Given the description of an element on the screen output the (x, y) to click on. 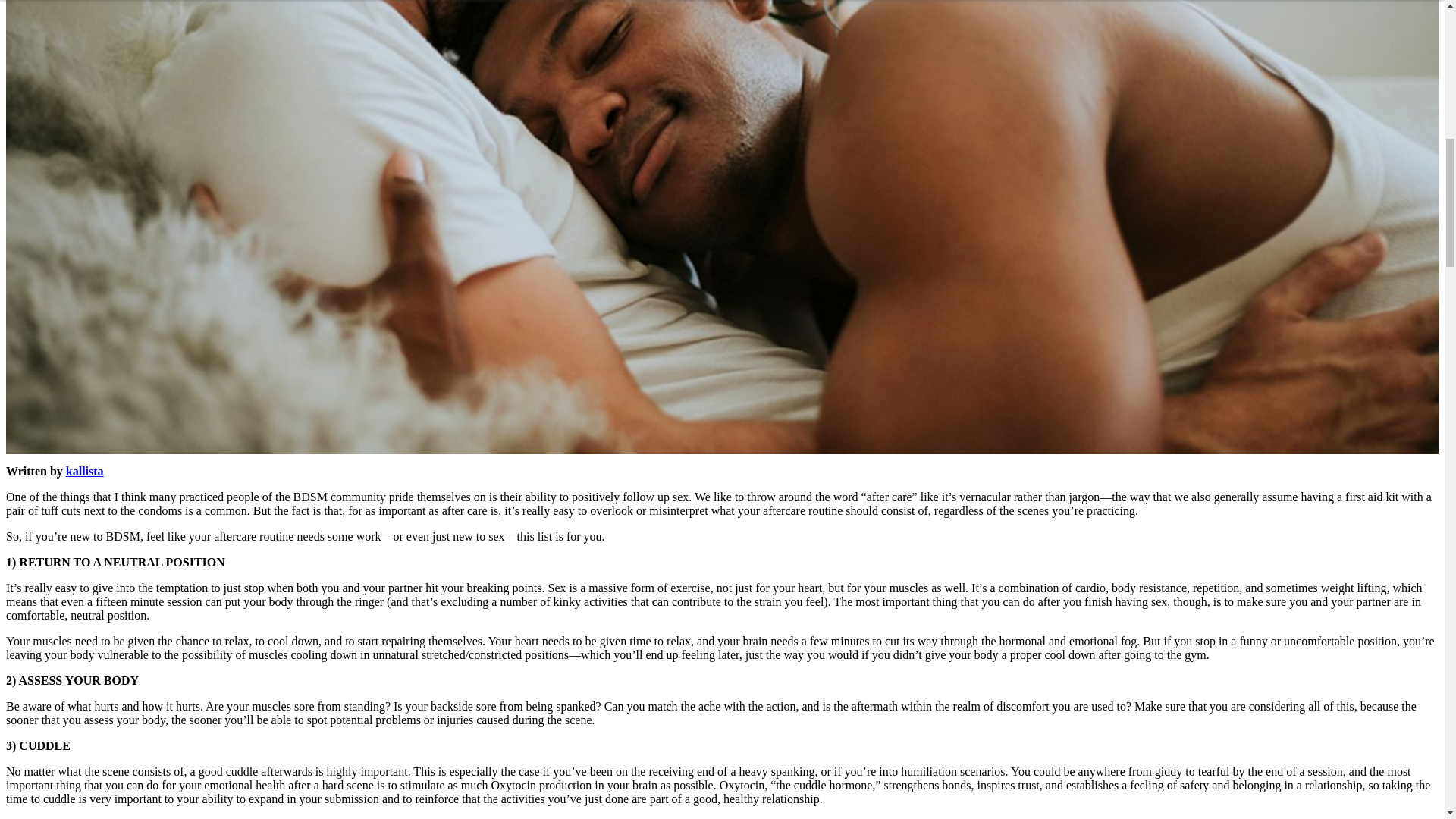
kallista (84, 471)
